Given the description of an element on the screen output the (x, y) to click on. 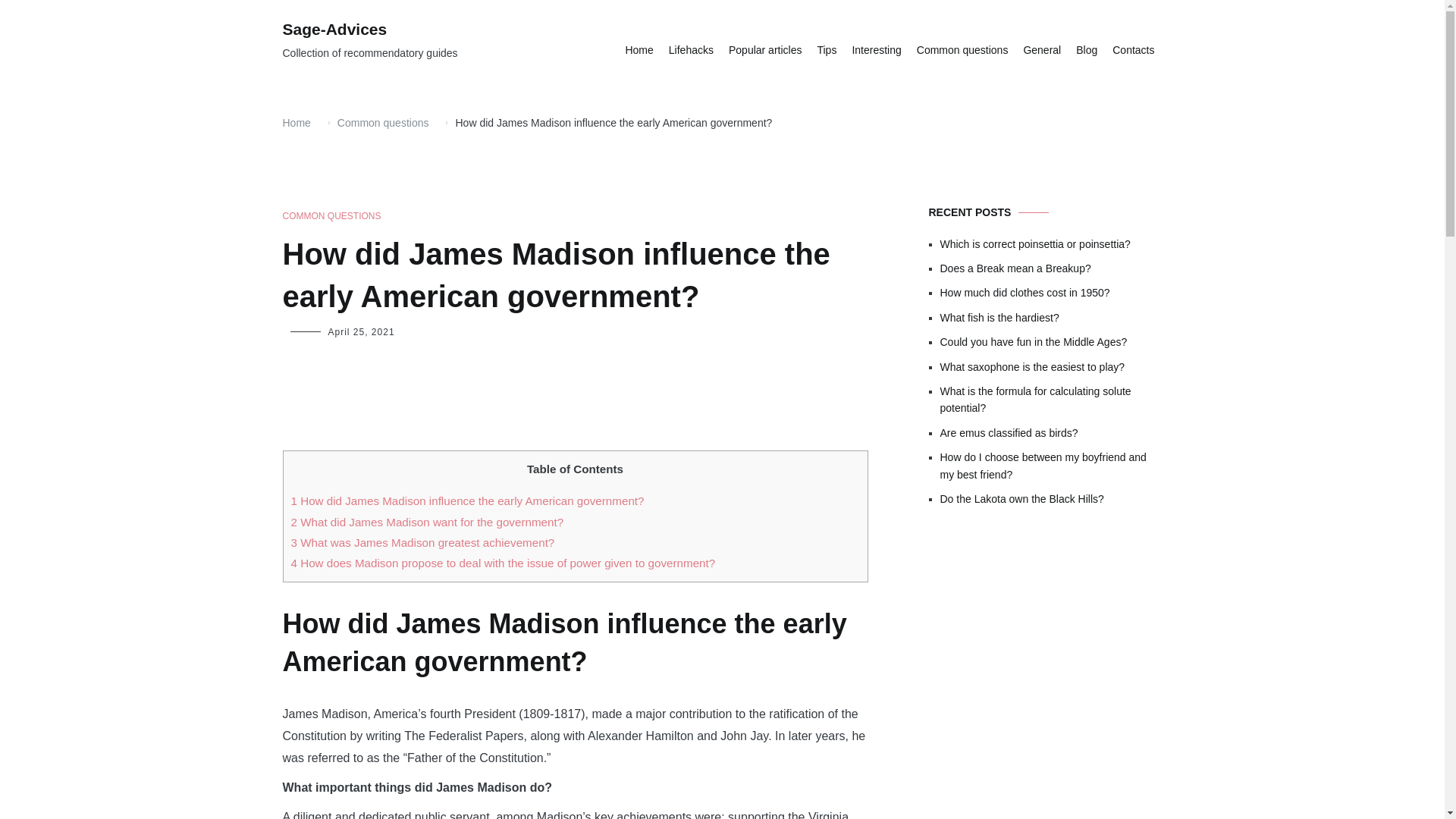
Are emus classified as birds? (1050, 433)
Contacts (1133, 49)
Do the Lakota own the Black Hills? (1050, 498)
General (1042, 49)
How do I choose between my boyfriend and my best friend? (1050, 465)
Interesting (876, 49)
2 What did James Madison want for the government? (427, 521)
Sage-Advices (334, 28)
What fish is the hardiest? (1050, 317)
